Given the description of an element on the screen output the (x, y) to click on. 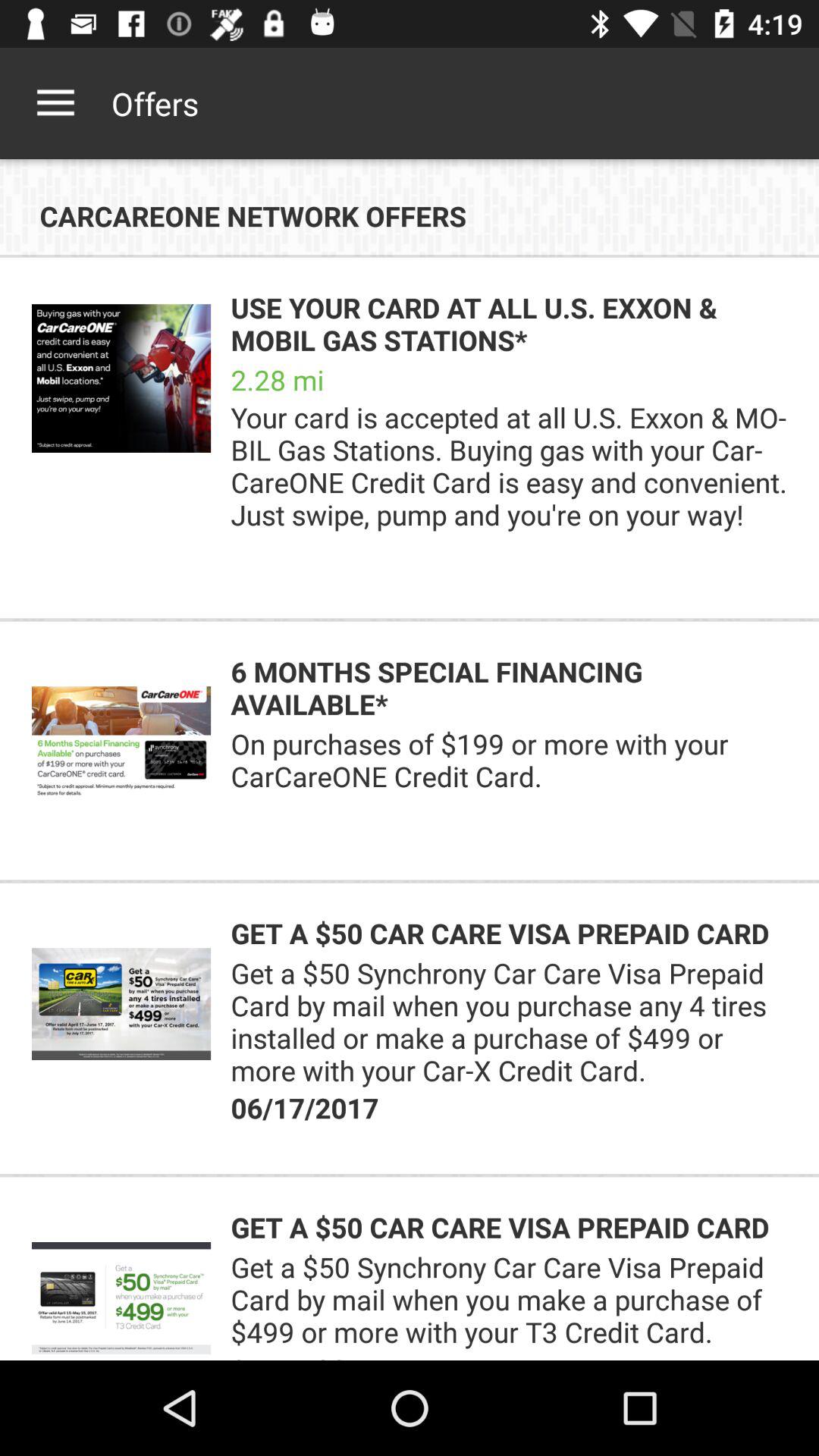
click on the image in the second block (120, 741)
